Given the description of an element on the screen output the (x, y) to click on. 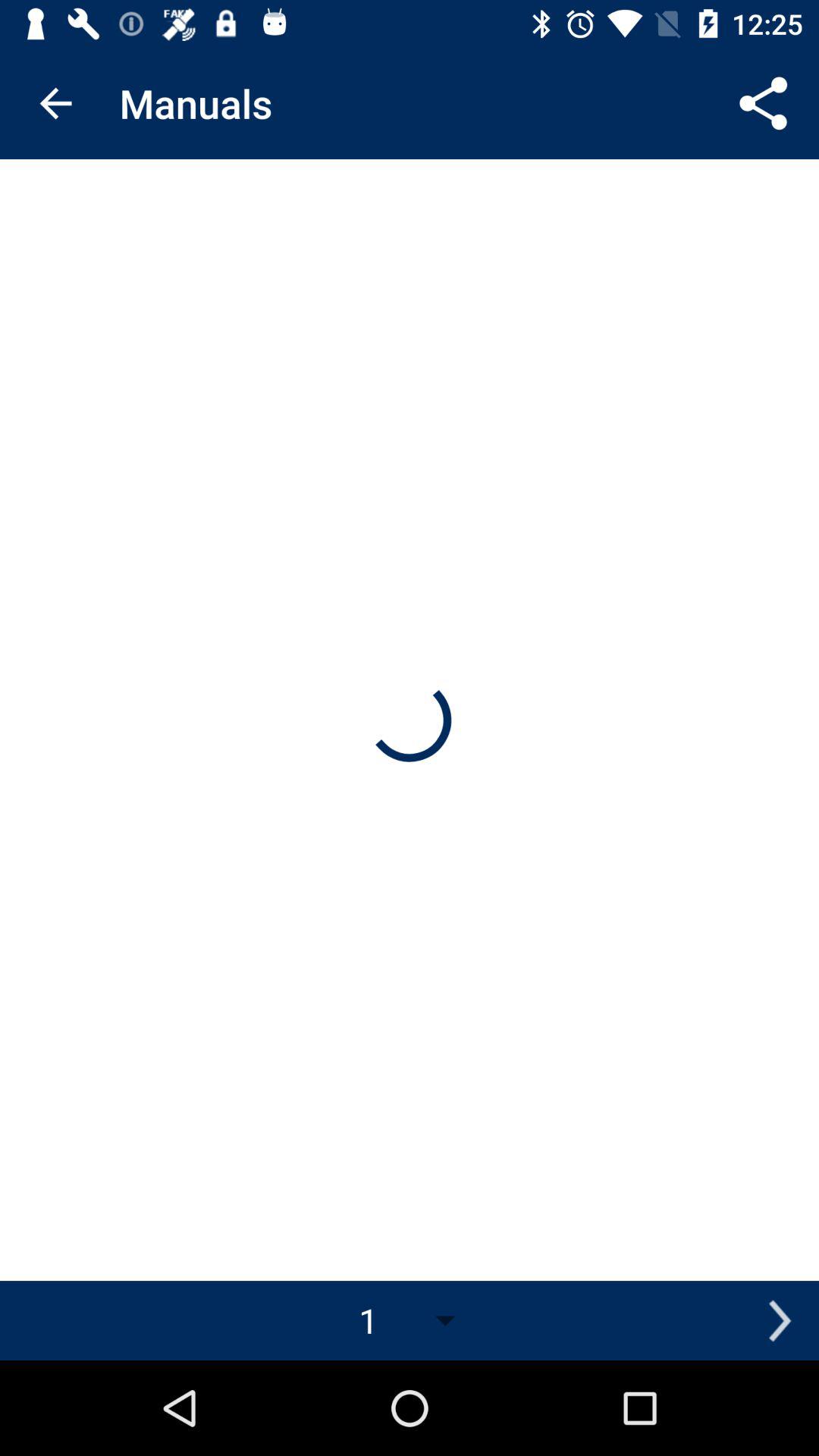
go forward (779, 1320)
